Given the description of an element on the screen output the (x, y) to click on. 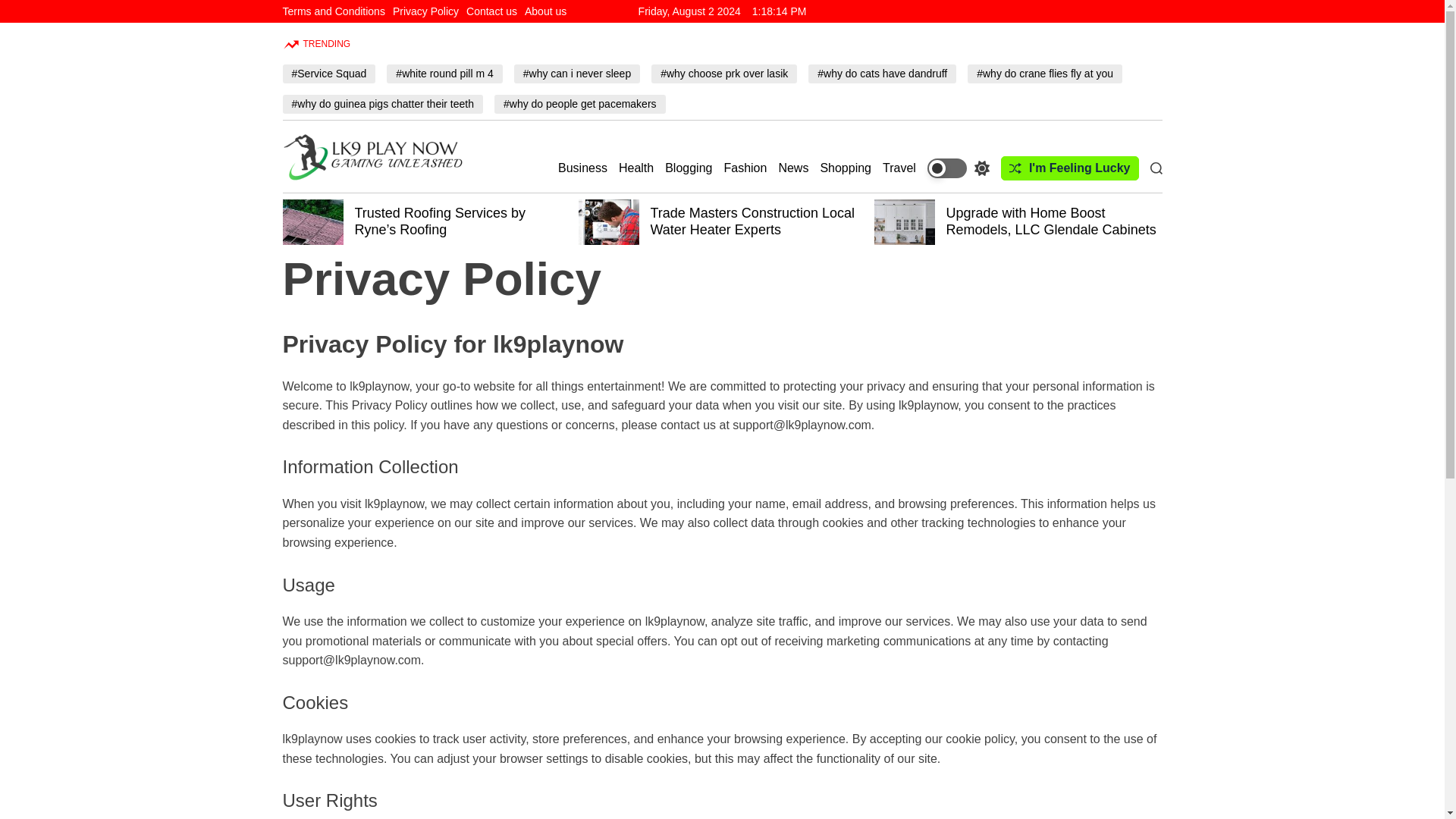
Search (1155, 168)
Terms and Conditions (333, 10)
Business (582, 167)
Travel (898, 167)
Upgrade with Home Boost Remodels, LLC Glendale Cabinets (1051, 221)
Blogging (688, 167)
I'm Feeling Lucky (1069, 168)
About us (545, 10)
Privacy Policy (425, 10)
Health (635, 167)
Fashion (745, 167)
Trade Masters Construction Local Water Heater Experts (752, 221)
Shopping (844, 167)
Contact us (490, 10)
News (792, 167)
